Given the description of an element on the screen output the (x, y) to click on. 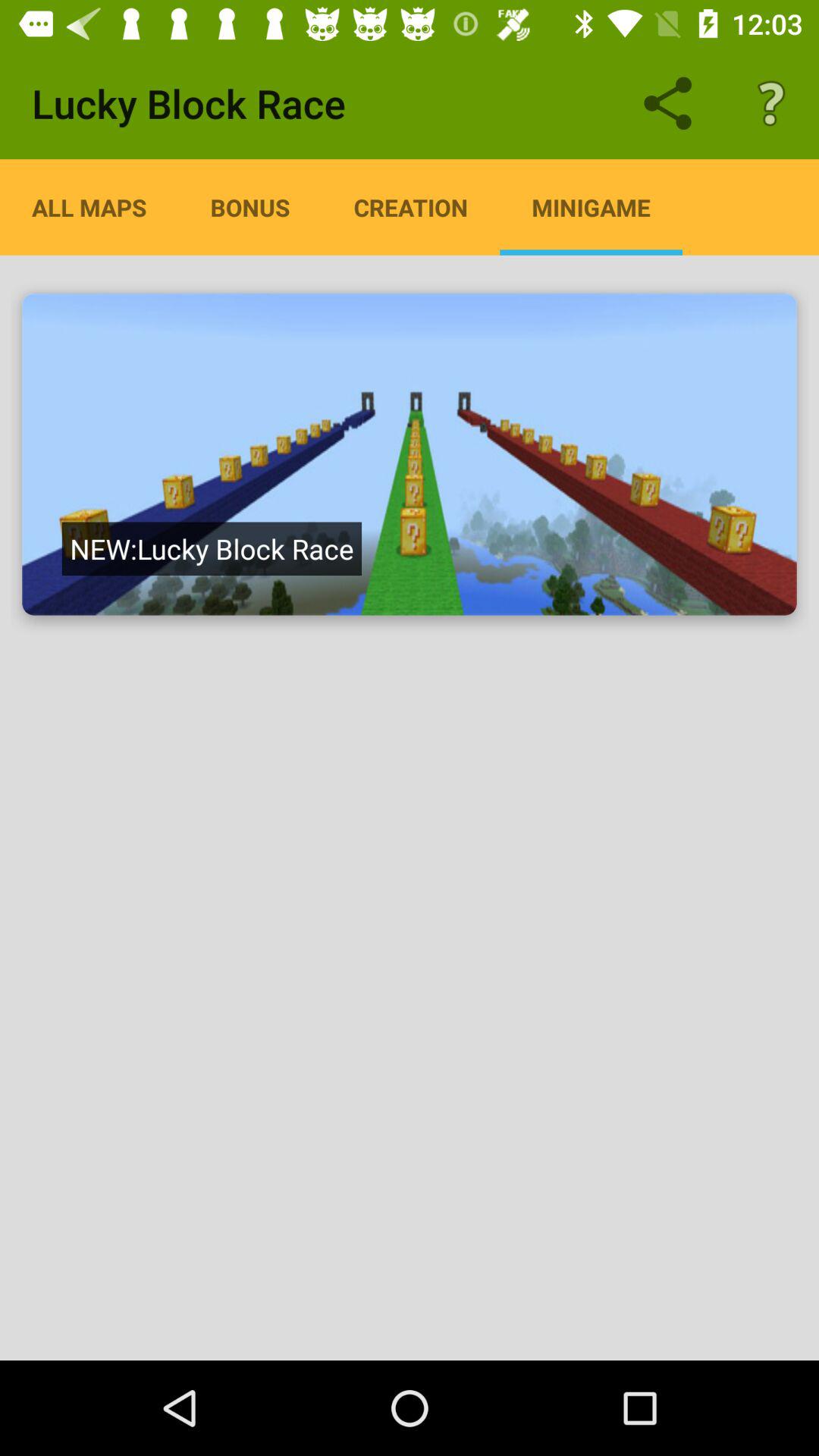
open app next to bonus app (410, 207)
